Given the description of an element on the screen output the (x, y) to click on. 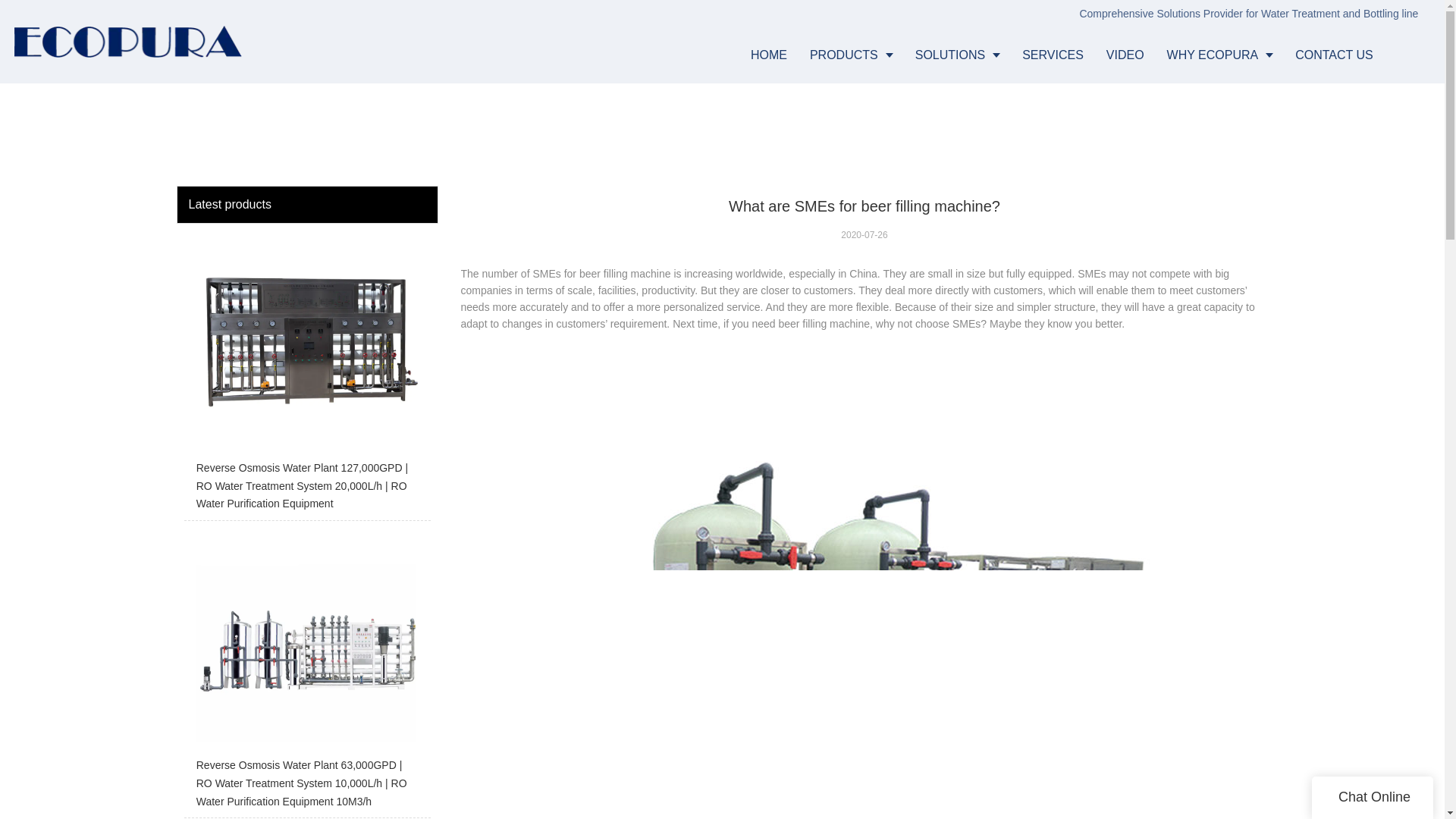
SERVICES (1052, 55)
WHY ECOPURA (1220, 55)
HOME (768, 55)
CONTACT US (1334, 55)
VIDEO (1125, 55)
SOLUTIONS (957, 55)
PRODUCTS (850, 55)
